Given the description of an element on the screen output the (x, y) to click on. 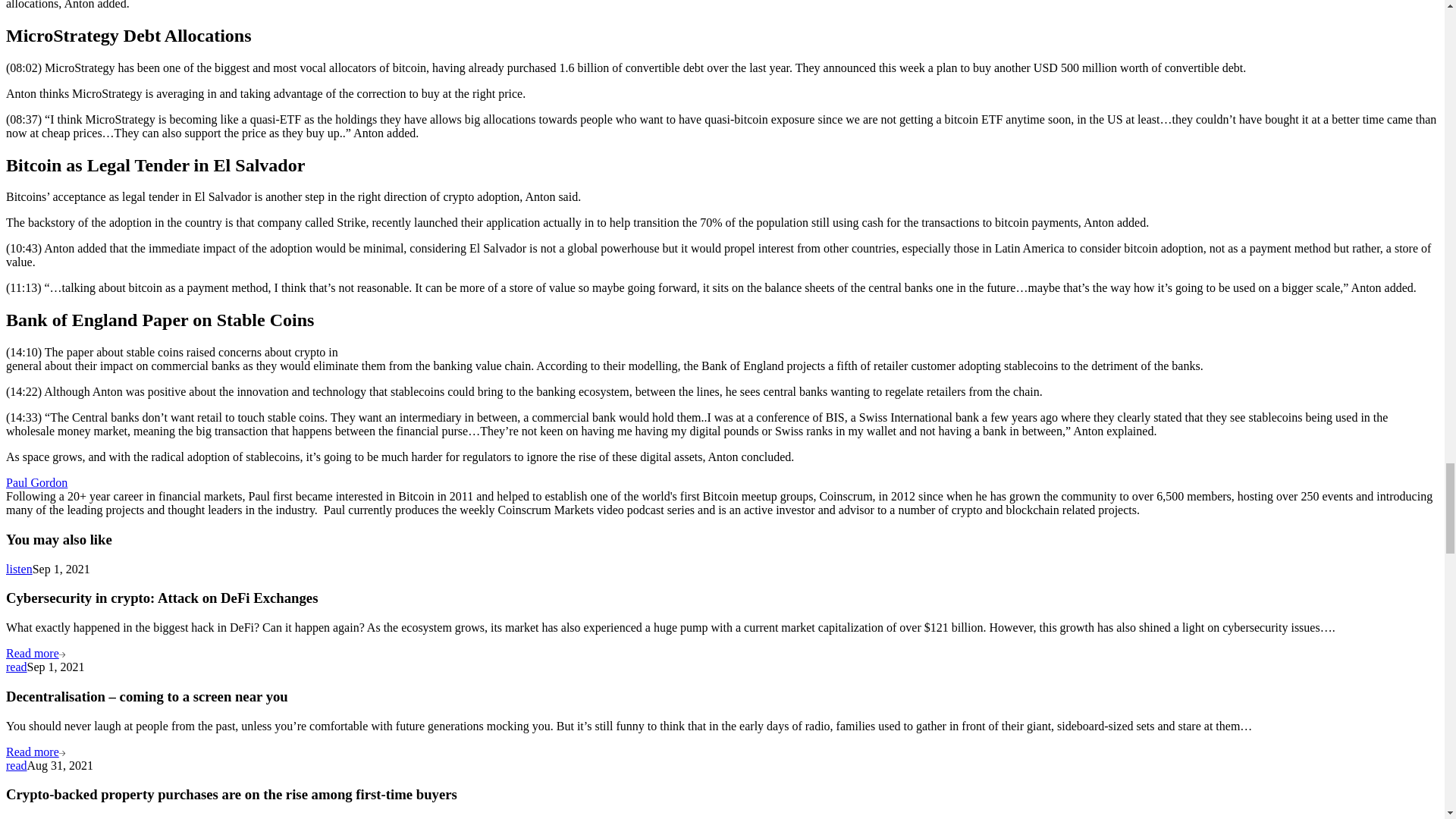
read (16, 666)
read (16, 765)
Paul Gordon (35, 481)
listen (18, 568)
